Given the description of an element on the screen output the (x, y) to click on. 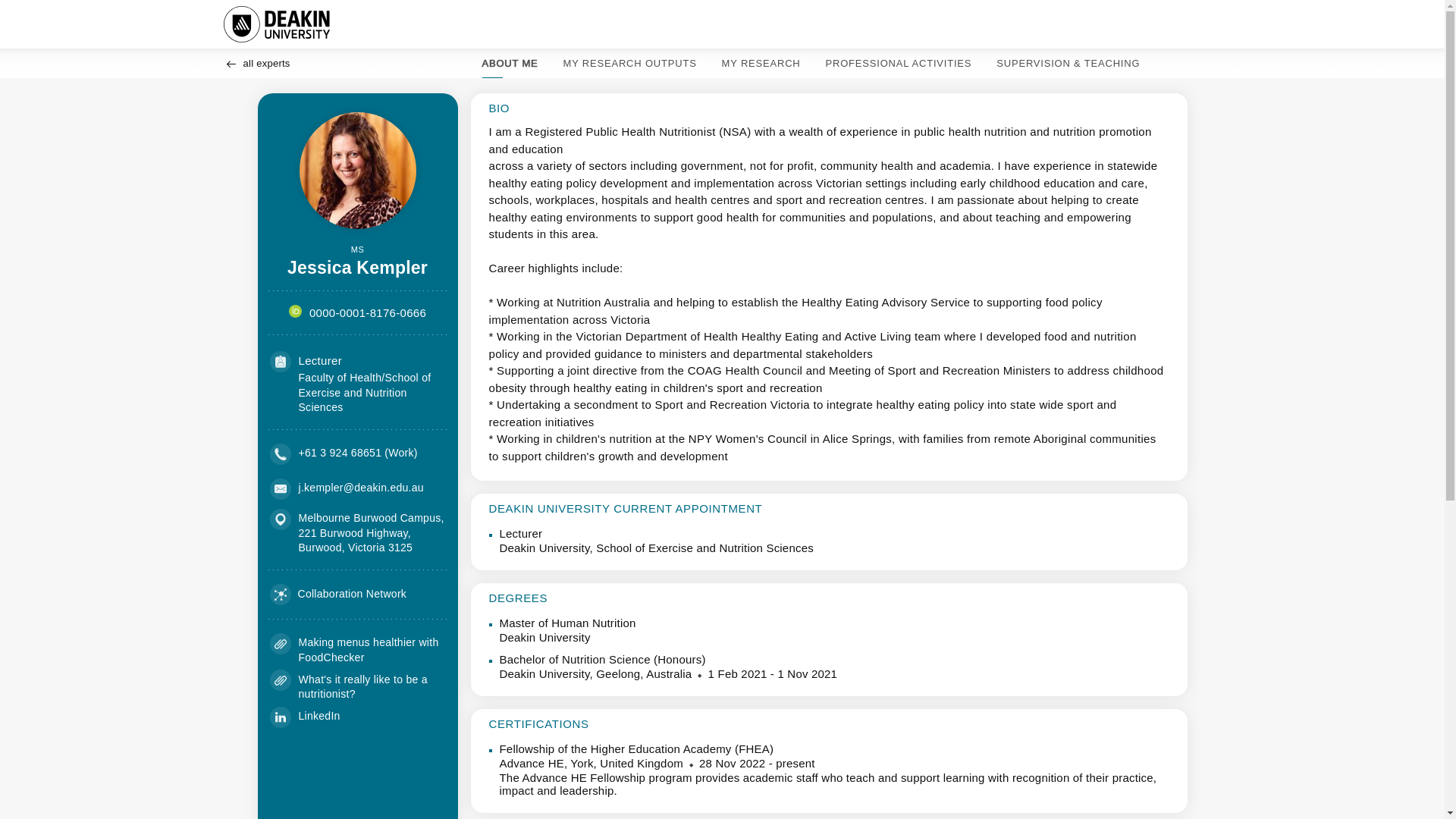
0000-0001-8176-0666 (367, 312)
all experts (255, 63)
Collaboration Network (338, 594)
LinkedIn (319, 715)
MY RESEARCH OUTPUTS (629, 63)
MY RESEARCH (761, 63)
What's it really like to be a nutritionist? (363, 687)
PROFESSIONAL ACTIVITIES (898, 63)
Making menus healthier with FoodChecker (368, 649)
